Given the description of an element on the screen output the (x, y) to click on. 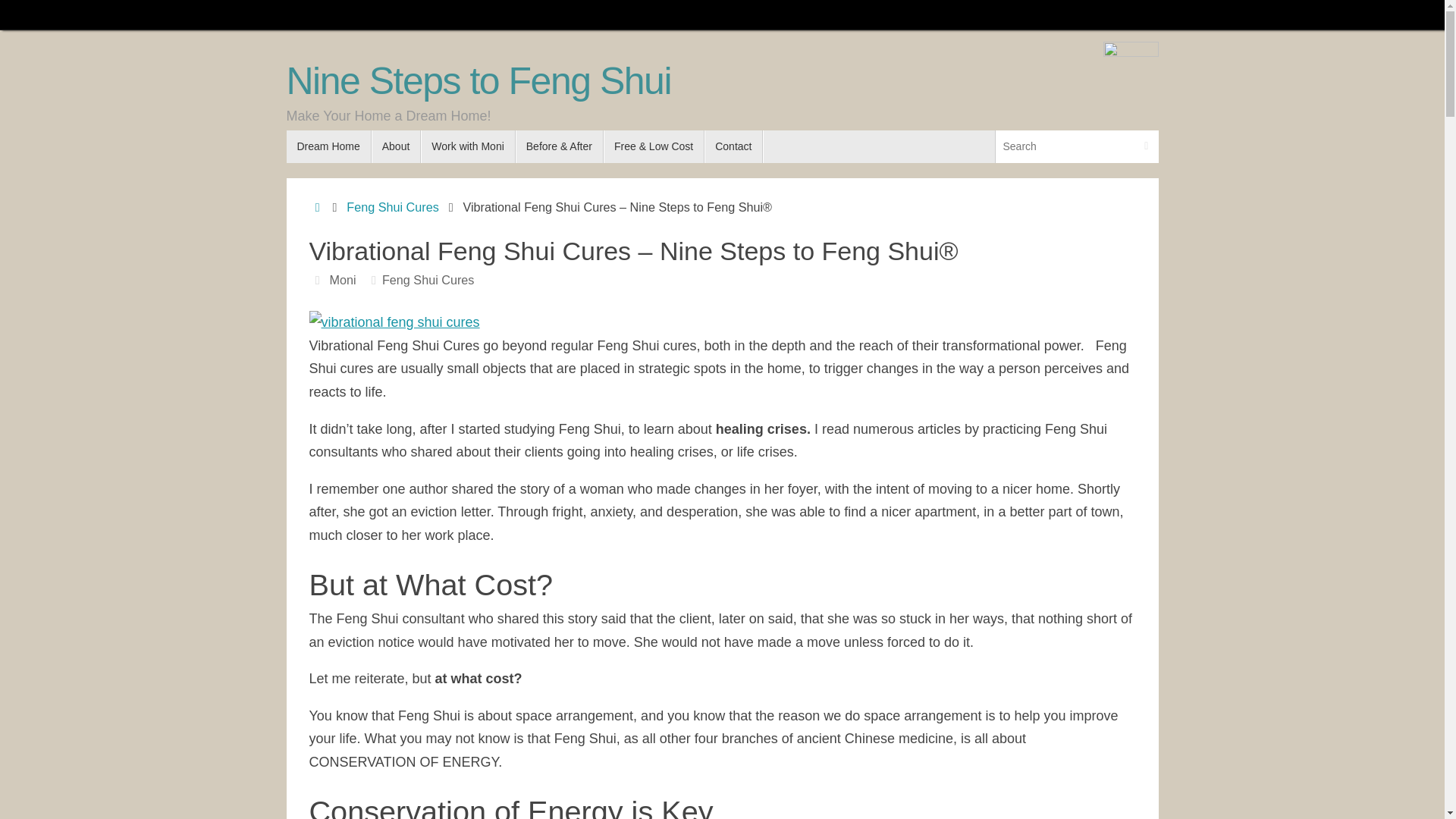
Feng Shui Cures (427, 279)
Nine Steps to Feng Shui (478, 81)
Categories (373, 279)
vibrational feng shui cures (394, 322)
Work with Moni (467, 146)
Nine Steps to Feng Shui (478, 81)
View all posts by Moni (342, 279)
Contact (733, 146)
Moni (342, 279)
Home (317, 206)
